Given the description of an element on the screen output the (x, y) to click on. 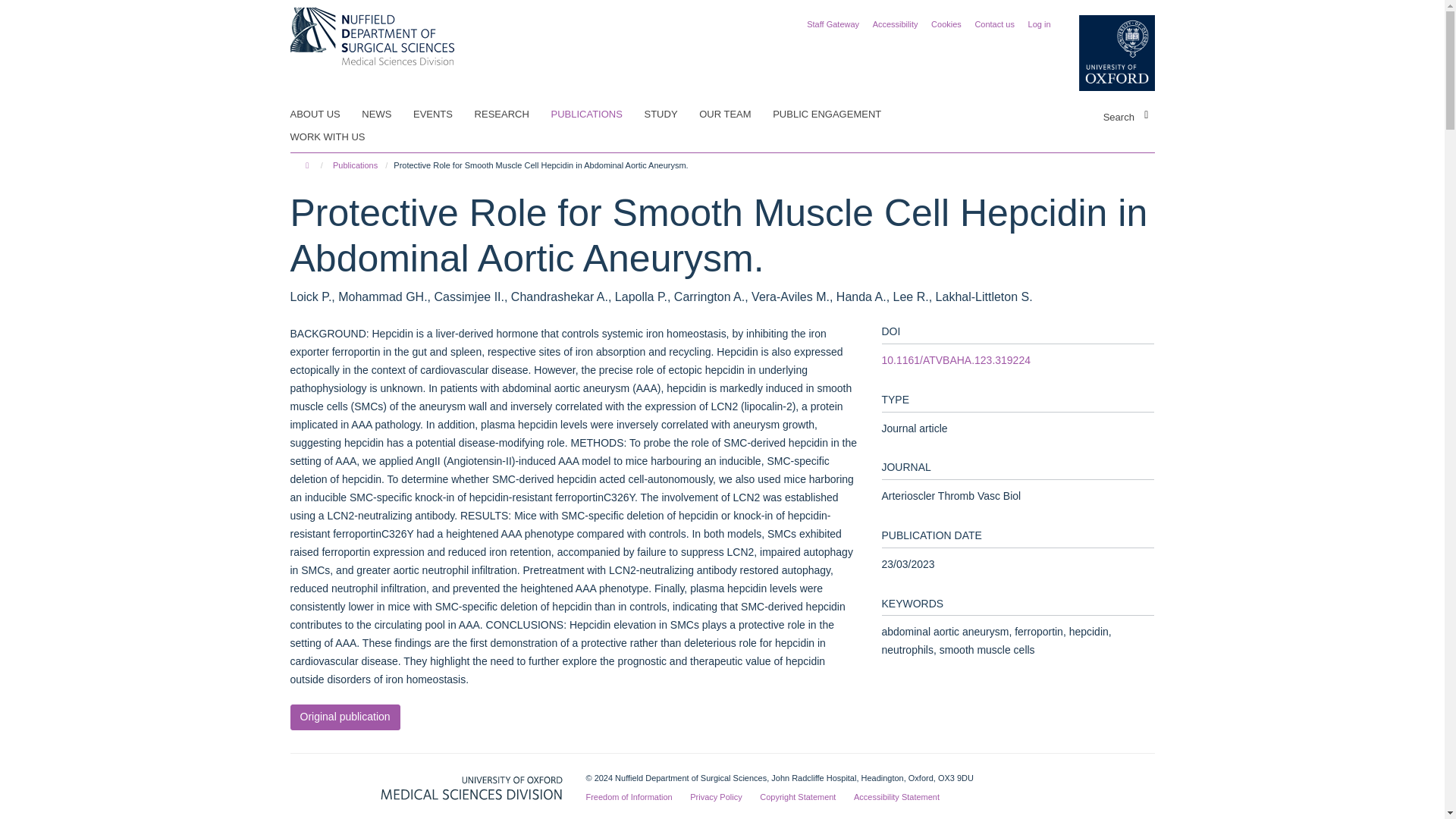
EVENTS (442, 114)
Cookies (945, 23)
WORK WITH US (336, 137)
Original publication (343, 717)
PUBLIC ENGAGEMENT (836, 114)
PUBLICATIONS (595, 114)
OUR TEAM (734, 114)
Privacy Policy (715, 796)
Log in (1039, 23)
Contact us (994, 23)
